Given the description of an element on the screen output the (x, y) to click on. 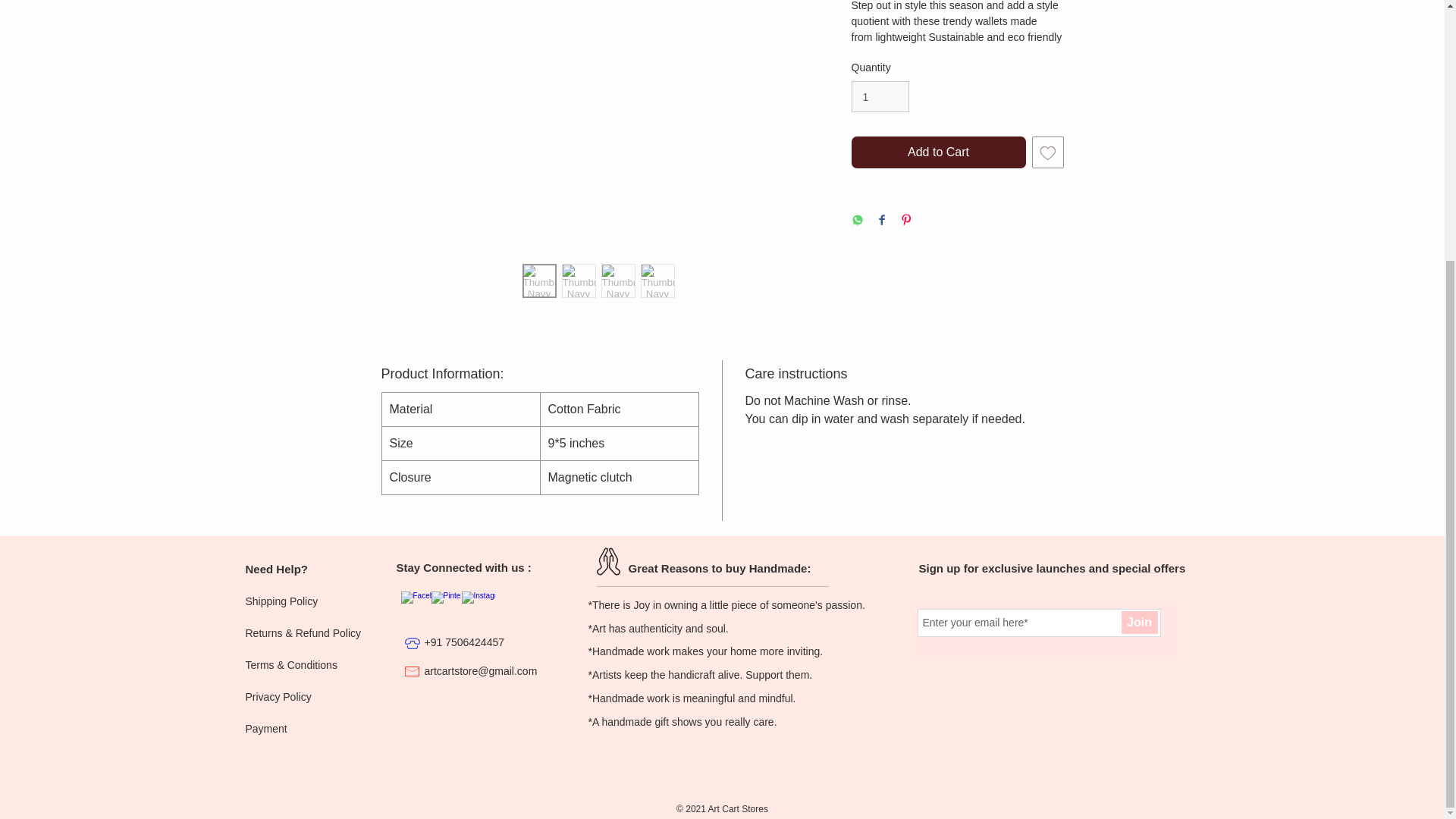
Add to Cart (937, 152)
1 (879, 96)
